Given the description of an element on the screen output the (x, y) to click on. 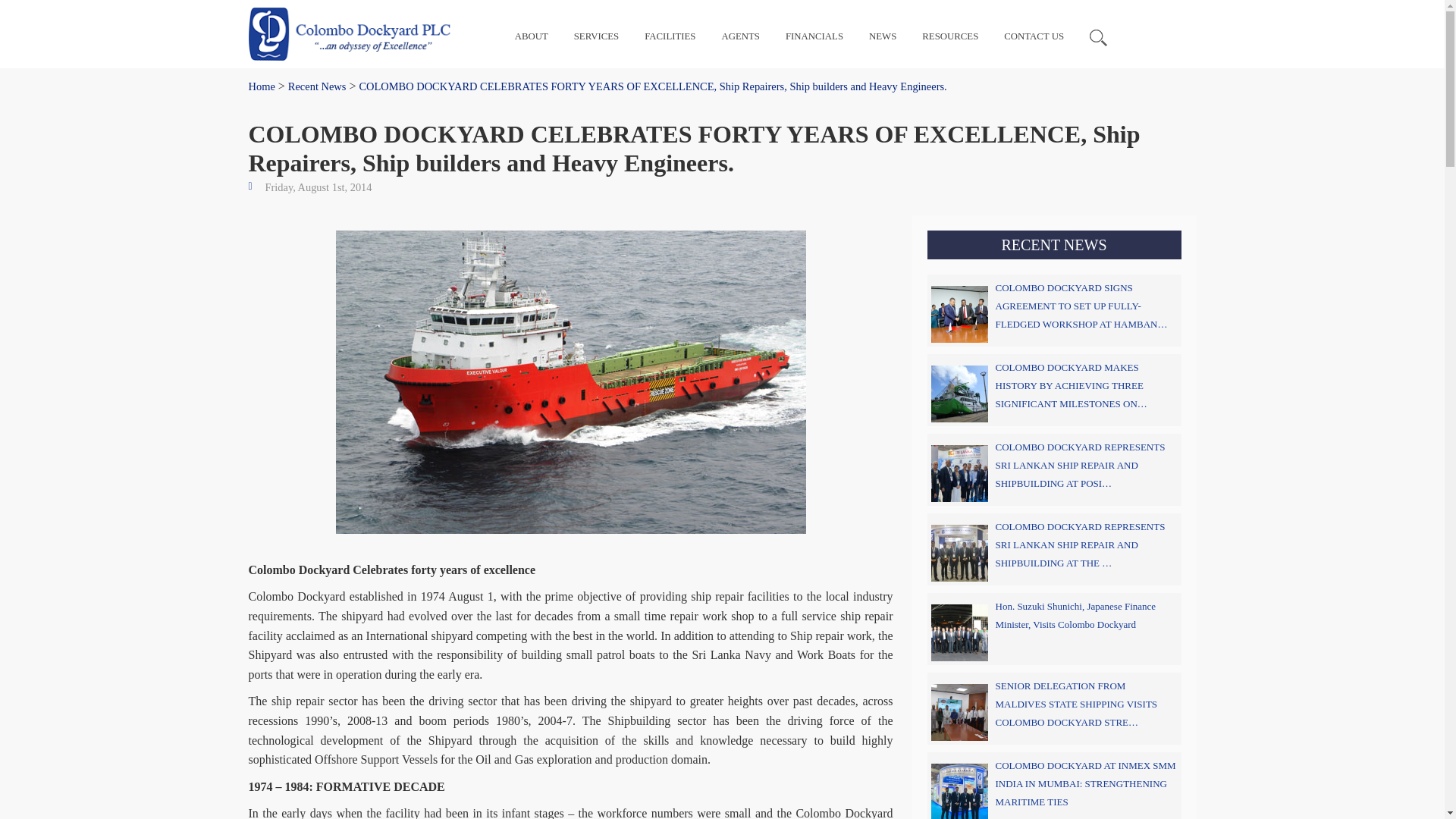
FACILITIES (670, 36)
ABOUT (531, 36)
SERVICES (595, 36)
Go to the Recent News category archives. (317, 85)
RESOURCES (949, 36)
AGENTS (739, 36)
Go to Colombo Dockyard PLC. (261, 85)
CONTACT US (1034, 36)
FINANCIALS (814, 36)
NEWS (882, 36)
